Given the description of an element on the screen output the (x, y) to click on. 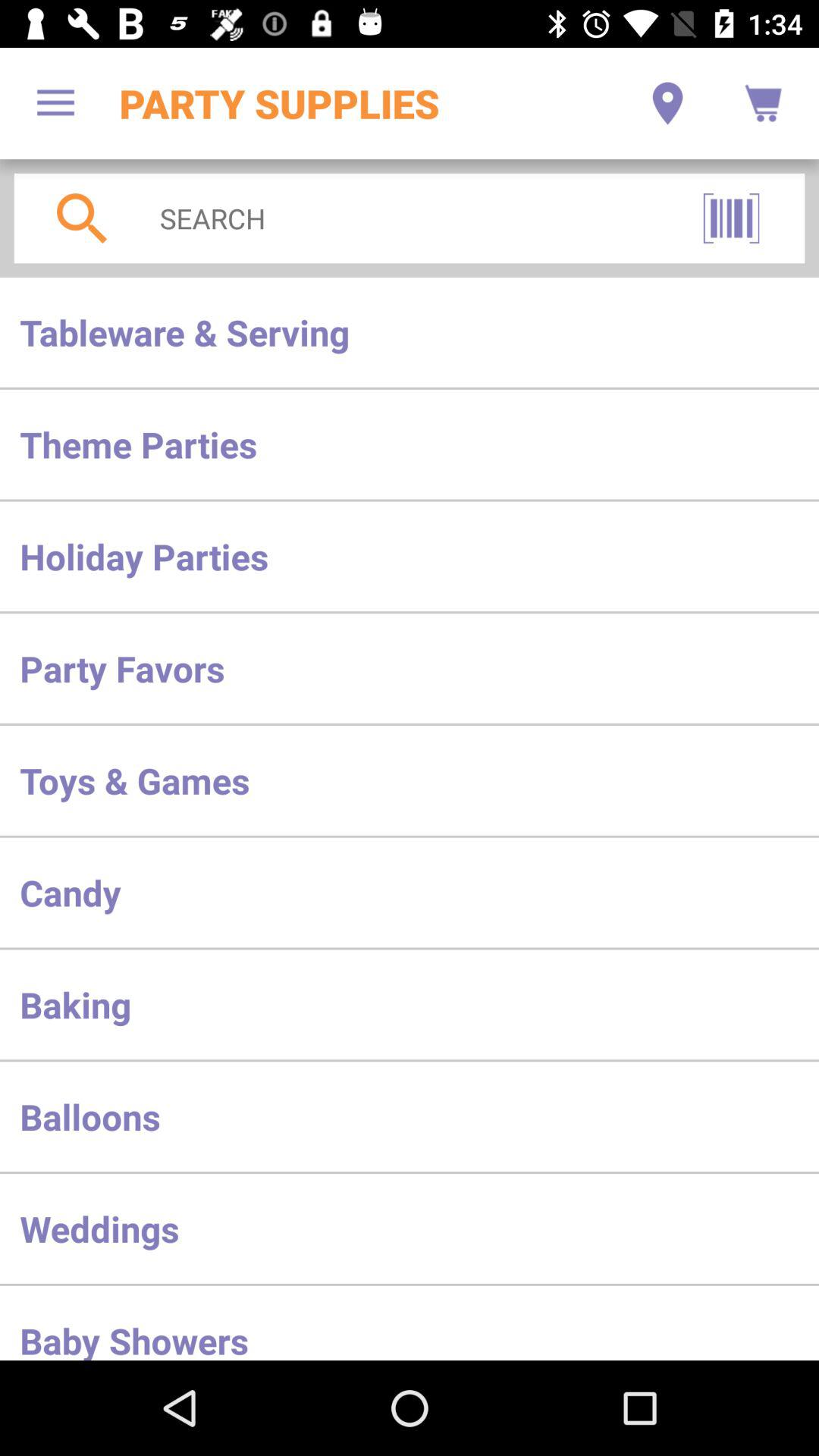
press item below the party favors item (409, 780)
